Given the description of an element on the screen output the (x, y) to click on. 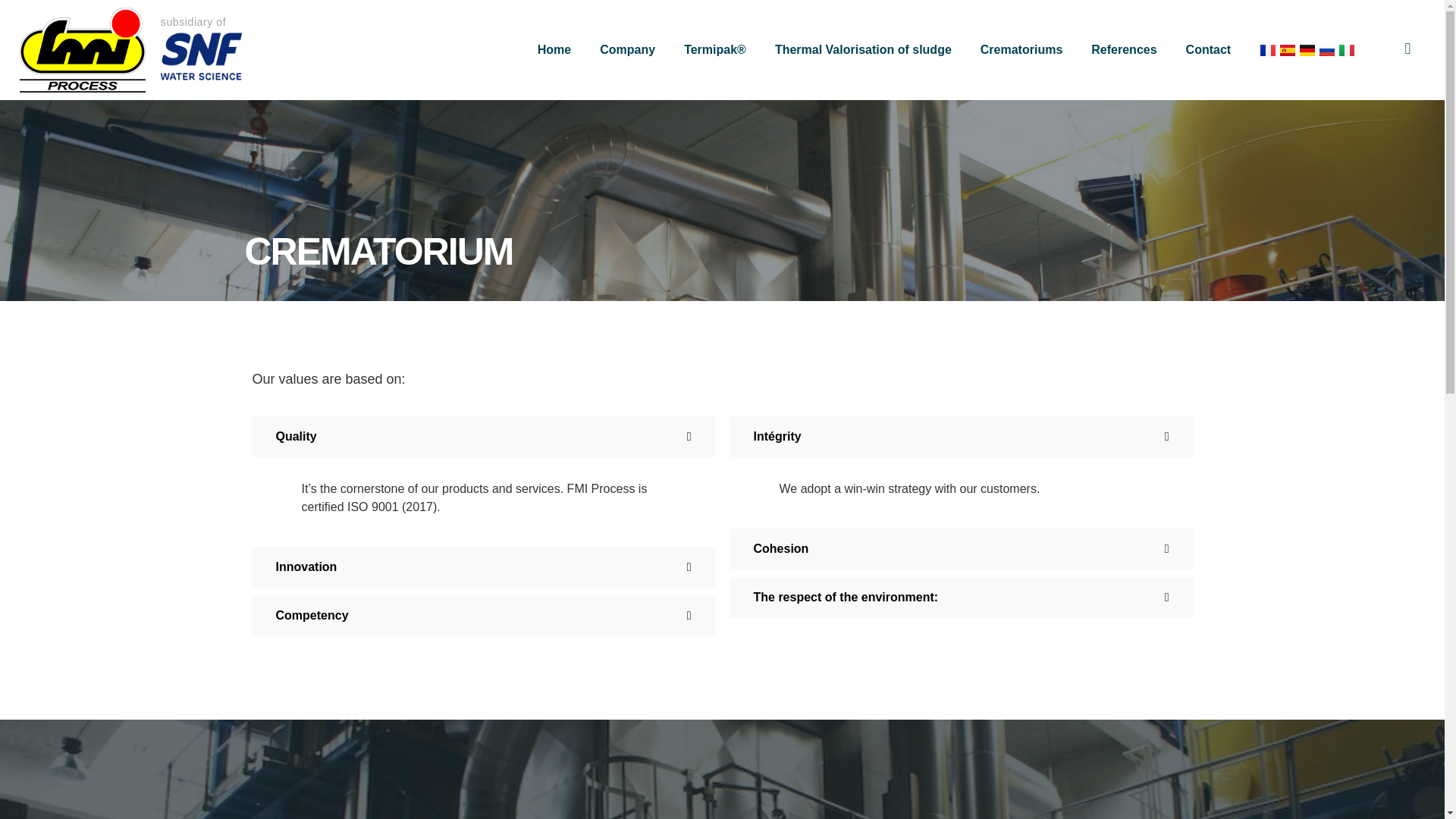
Crematoriums (1020, 49)
Company (627, 49)
search-button (1407, 48)
Contact (1208, 49)
Thermal Valorisation of sludge (863, 49)
References (1123, 49)
